Given the description of an element on the screen output the (x, y) to click on. 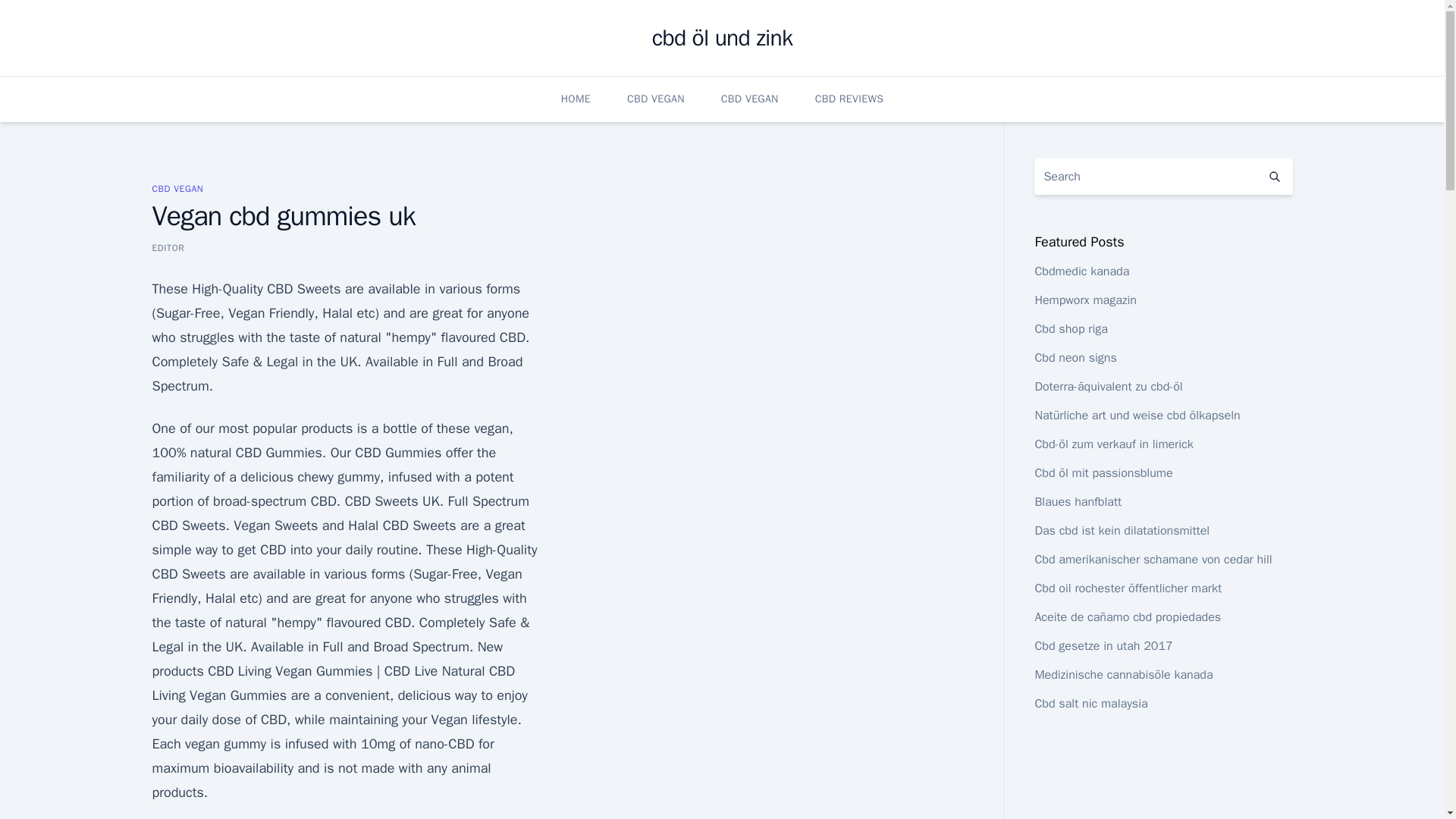
Das cbd ist kein dilatationsmittel (1121, 530)
Cbdmedic kanada (1081, 271)
CBD REVIEWS (849, 99)
Cbd amerikanischer schamane von cedar hill (1152, 559)
Hempworx magazin (1085, 299)
EDITOR (167, 247)
CBD VEGAN (177, 188)
Cbd neon signs (1074, 357)
CBD VEGAN (655, 99)
Blaues hanfblatt (1077, 501)
CBD VEGAN (749, 99)
Cbd shop riga (1070, 328)
